Given the description of an element on the screen output the (x, y) to click on. 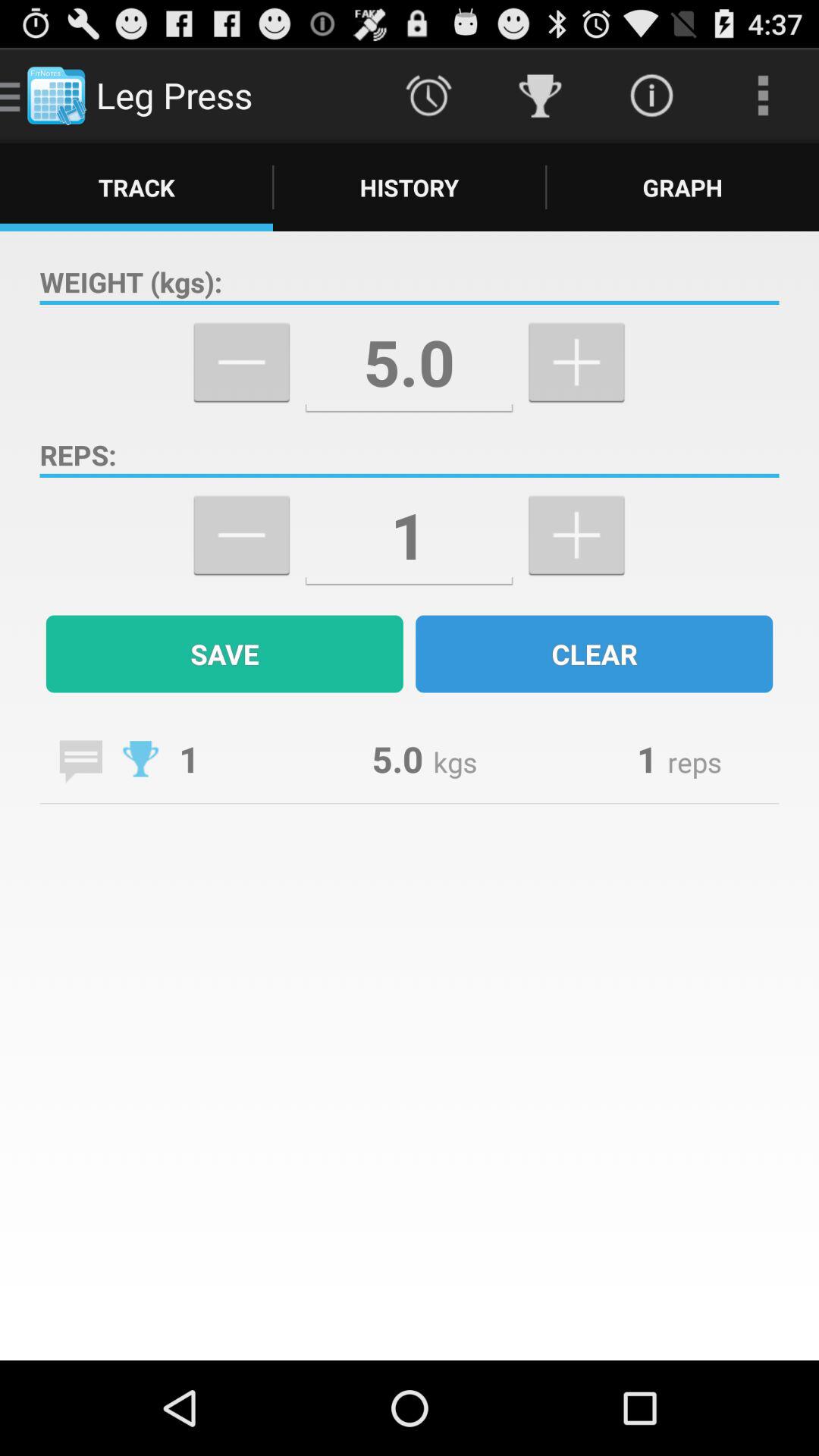
add comment (80, 761)
